Given the description of an element on the screen output the (x, y) to click on. 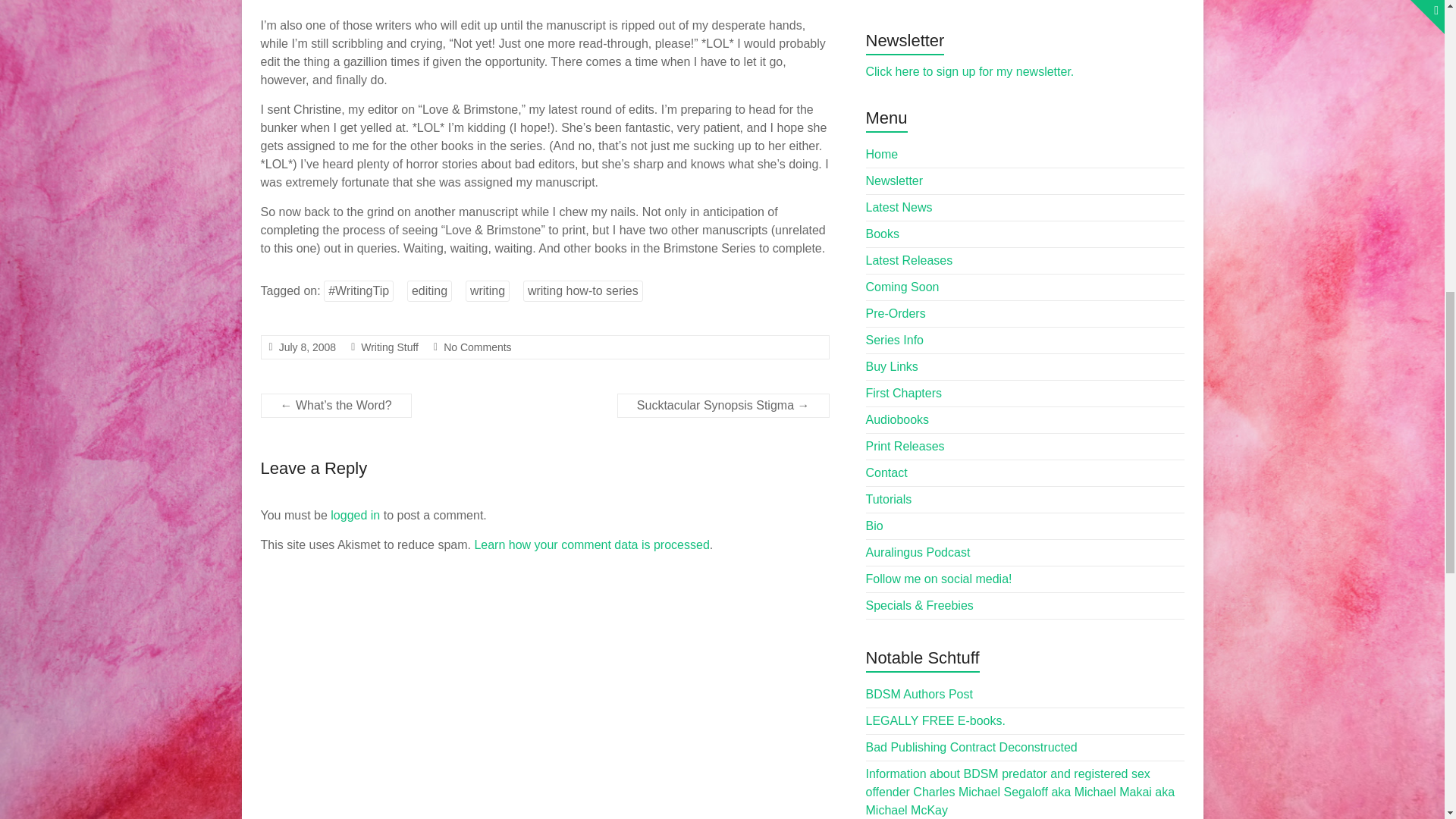
5:26 pm (307, 346)
editing (429, 291)
writing (487, 291)
